Given the description of an element on the screen output the (x, y) to click on. 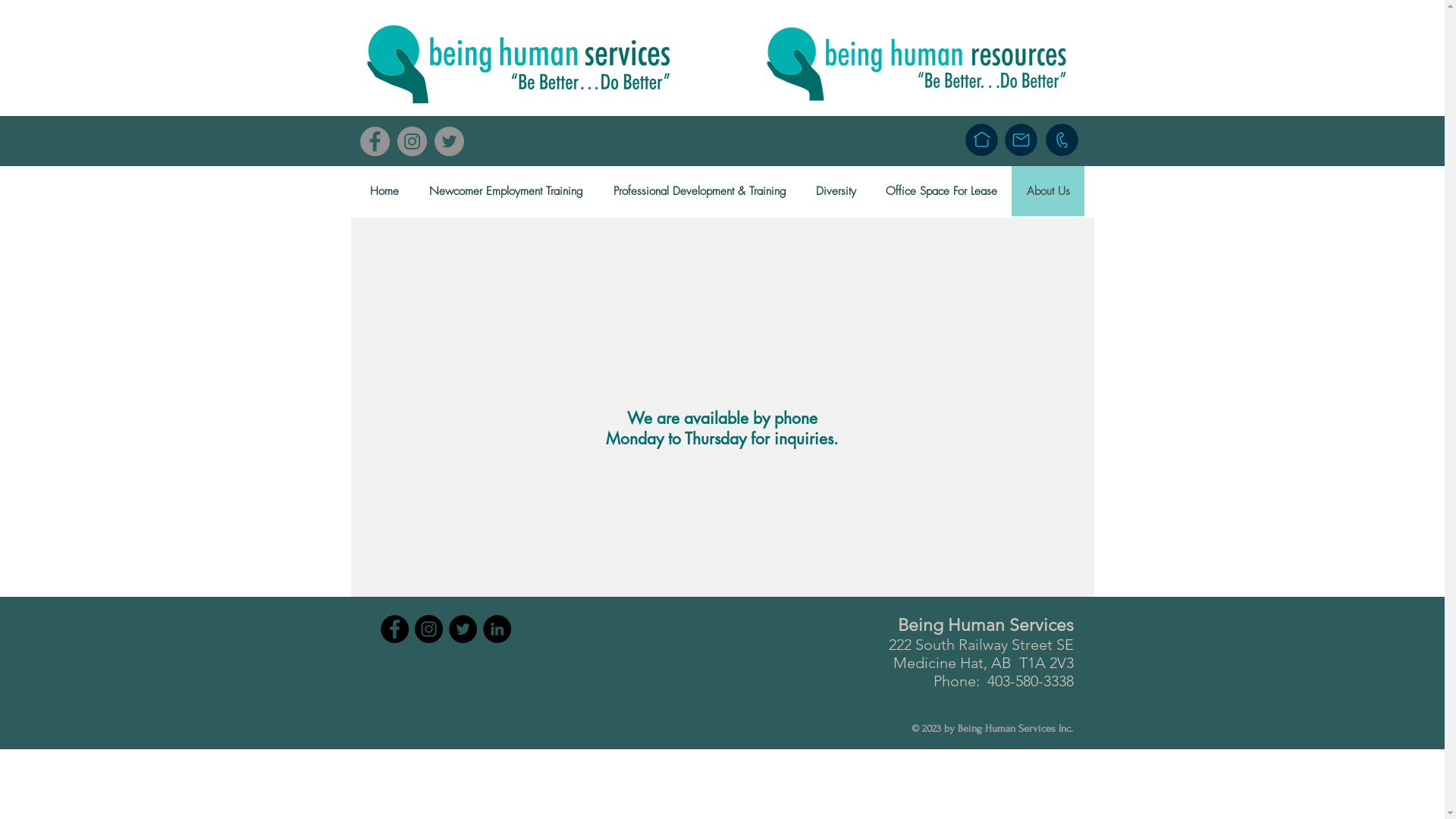
Diversity Element type: text (835, 191)
Professional Development & Training Element type: text (698, 191)
Home Element type: text (383, 191)
BeingHumanWebLogo2017_large (1).png Element type: hover (519, 62)
Newcomer Employment Training Element type: text (506, 191)
About Us Element type: text (1047, 191)
Office Space For Lease Element type: text (940, 191)
